Given the description of an element on the screen output the (x, y) to click on. 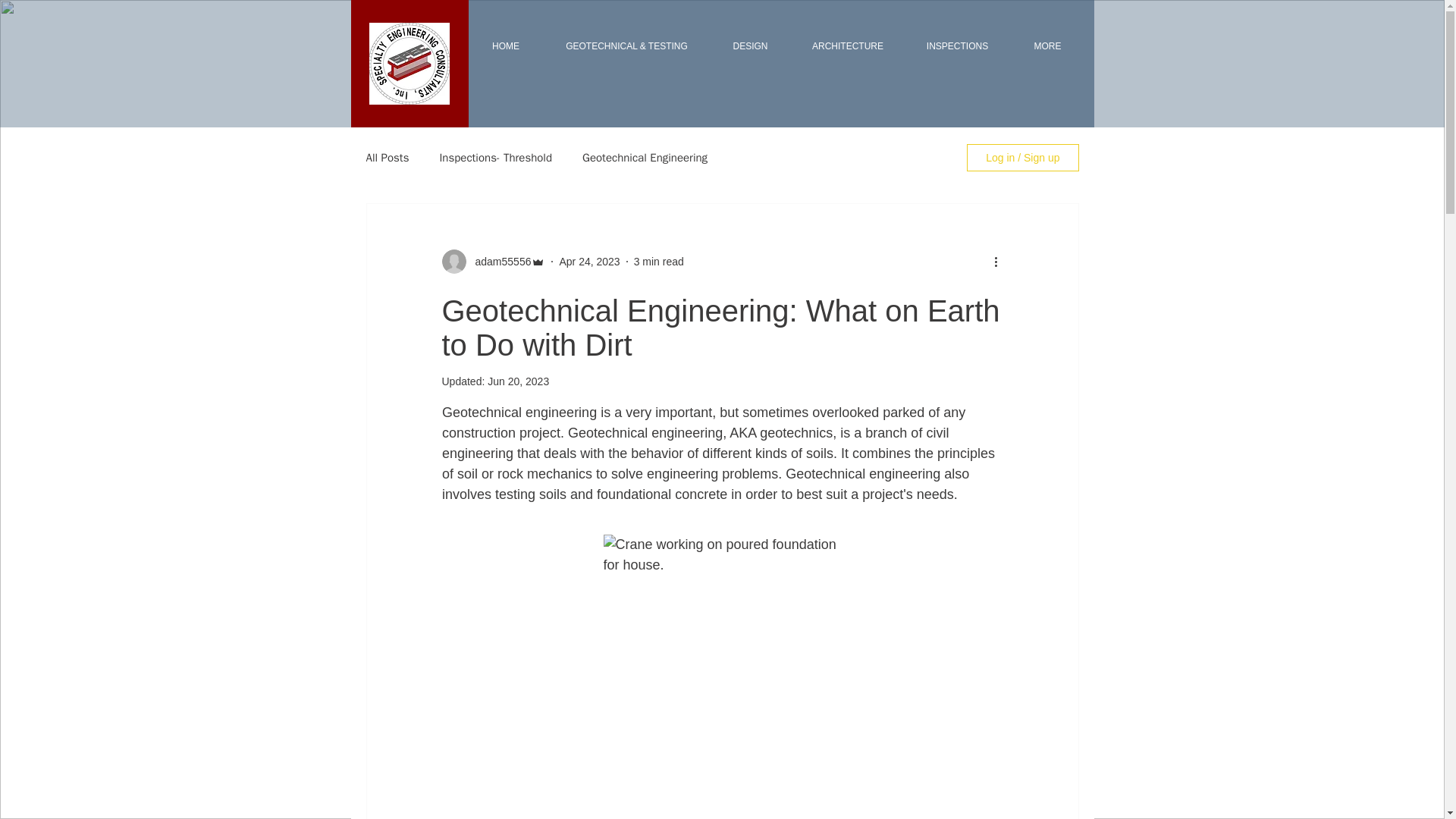
ARCHITECTURE (848, 46)
Inspections- Threshold (495, 156)
Geotechnical Engineering (644, 156)
All Posts (387, 156)
INSPECTIONS (957, 46)
HOME (505, 46)
Apr 24, 2023 (589, 260)
Jun 20, 2023 (517, 381)
3 min read (658, 260)
adam55556 (498, 261)
DESIGN (751, 46)
